Given the description of an element on the screen output the (x, y) to click on. 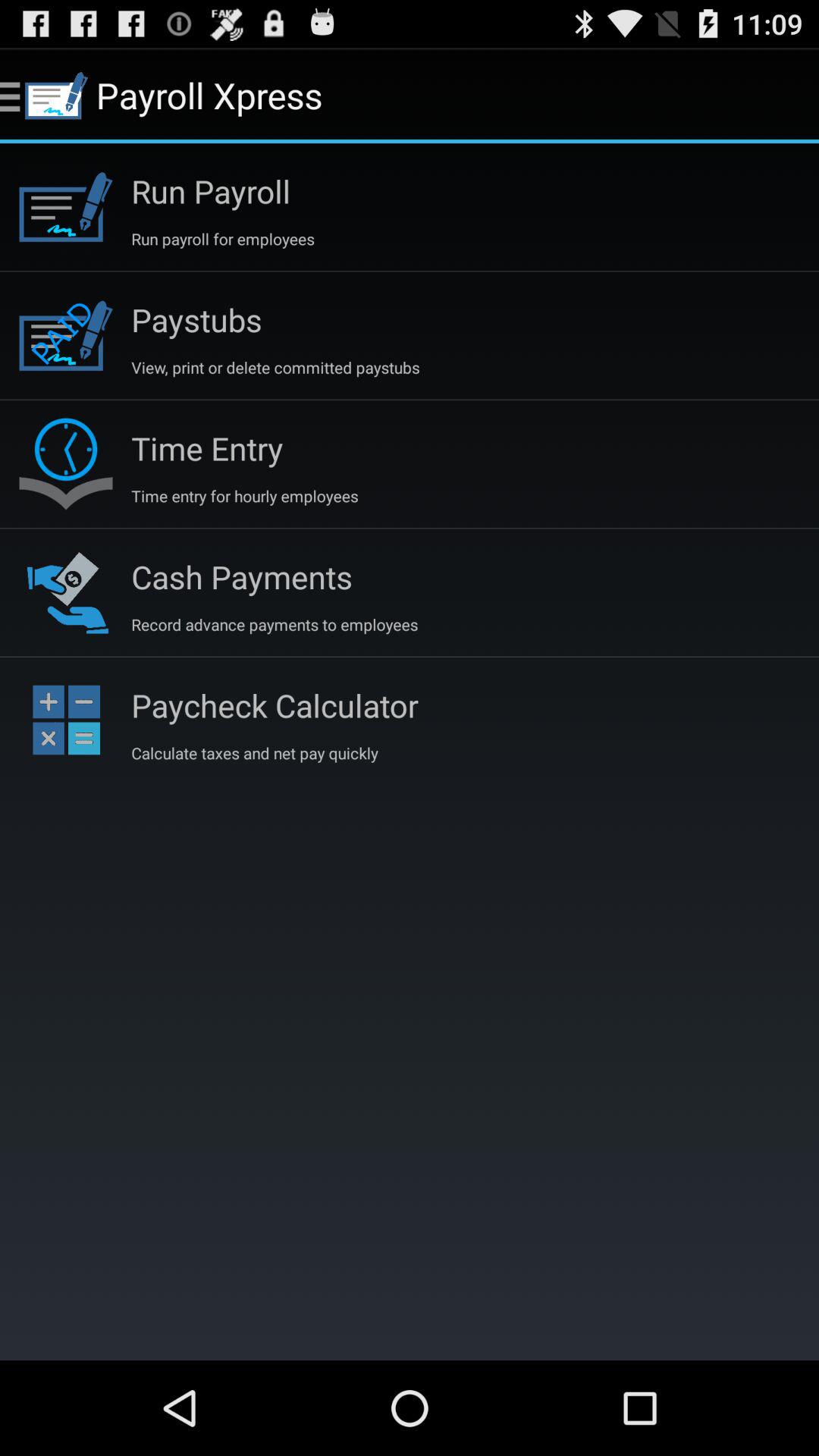
choose icon above the calculate taxes and item (274, 705)
